Given the description of an element on the screen output the (x, y) to click on. 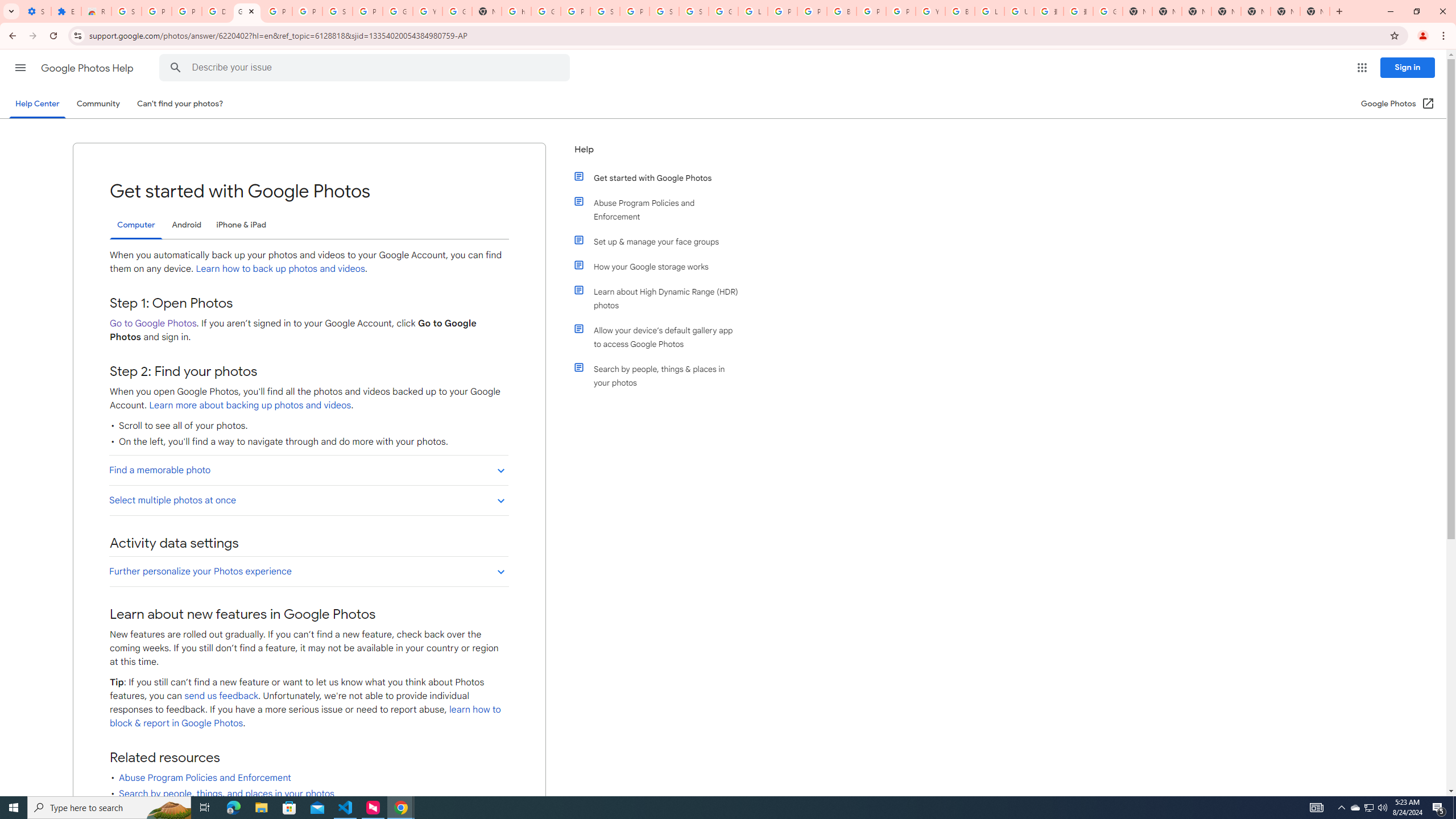
send us feedback (221, 695)
Computer (136, 225)
How your Google storage works (661, 266)
YouTube (930, 11)
Search by people, things & places in your photos (661, 375)
